Given the description of an element on the screen output the (x, y) to click on. 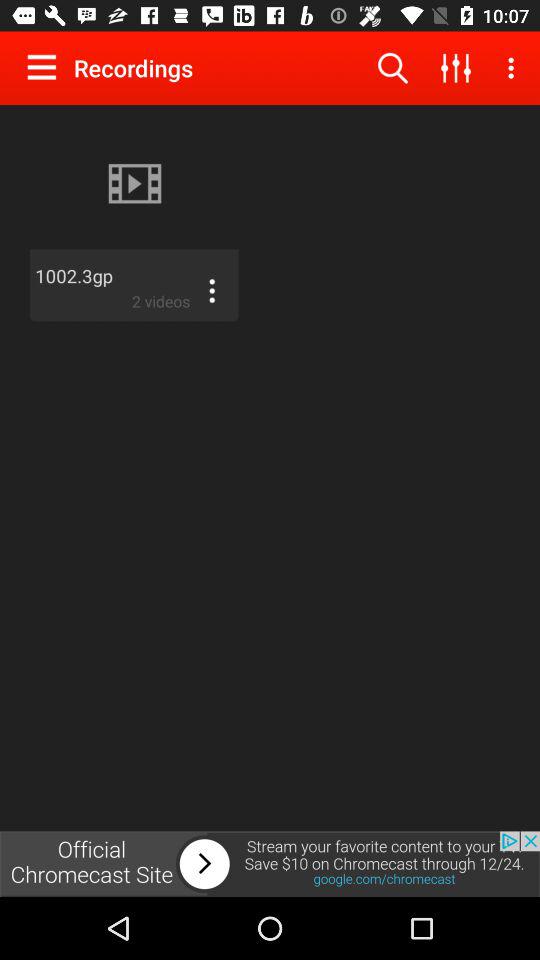
options (46, 67)
